Given the description of an element on the screen output the (x, y) to click on. 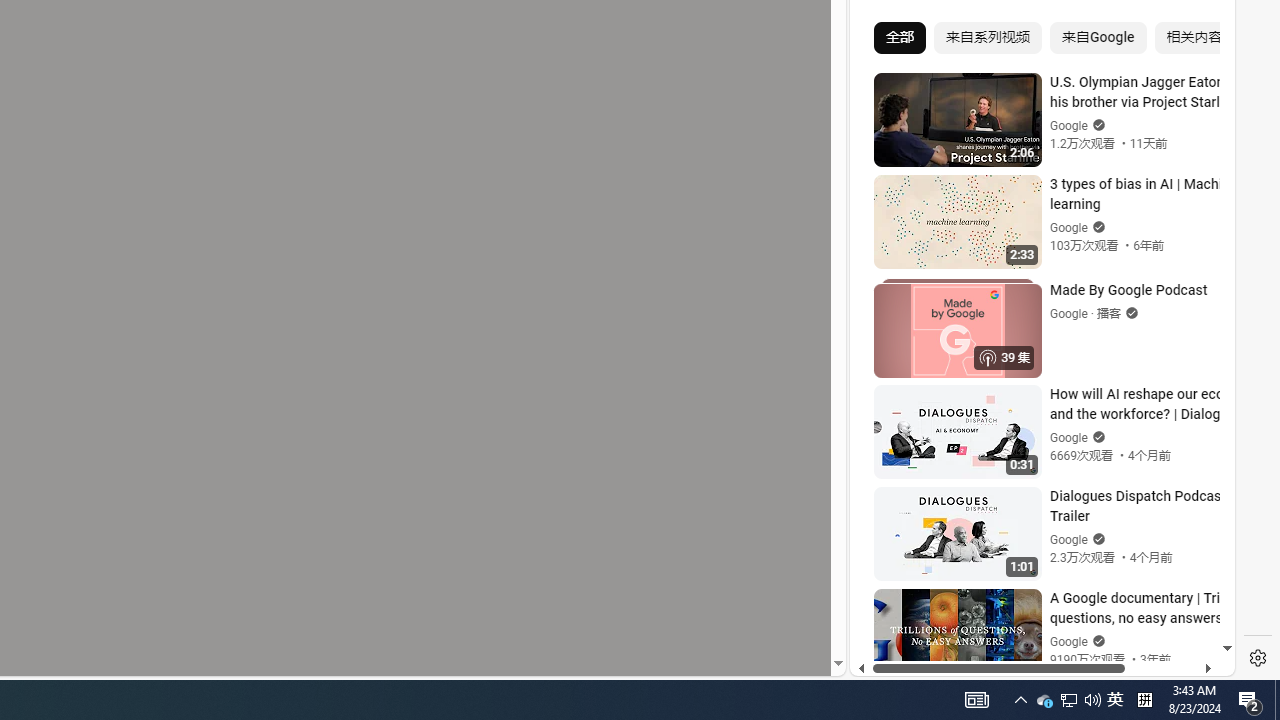
YouTube - YouTube (1034, 266)
US[ju] (917, 660)
#you (1034, 439)
Actions for this site (1131, 443)
Click to scroll right (1196, 83)
Class: dict_pnIcon rms_img (1028, 660)
